Given the description of an element on the screen output the (x, y) to click on. 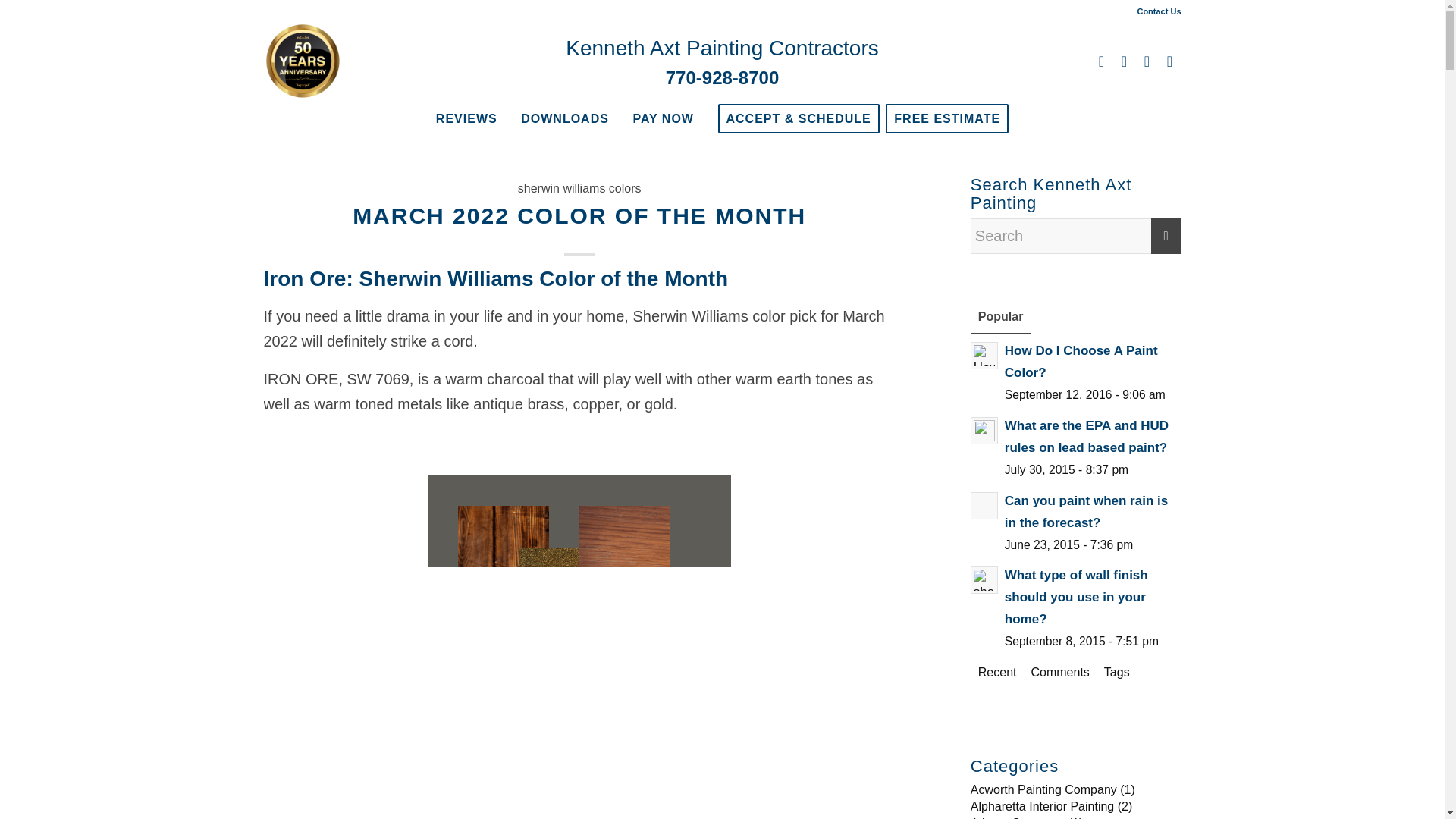
PAY NOW (663, 118)
Facebook (1101, 60)
IRON ORE (301, 379)
Youtube (1146, 60)
FREE ESTIMATE (951, 118)
Instagram (1124, 60)
Permanent Link: March 2022 Color of the Month (579, 215)
770-928-8700 (721, 77)
Contact Us (1158, 11)
sherwin williams colors (580, 187)
